Given the description of an element on the screen output the (x, y) to click on. 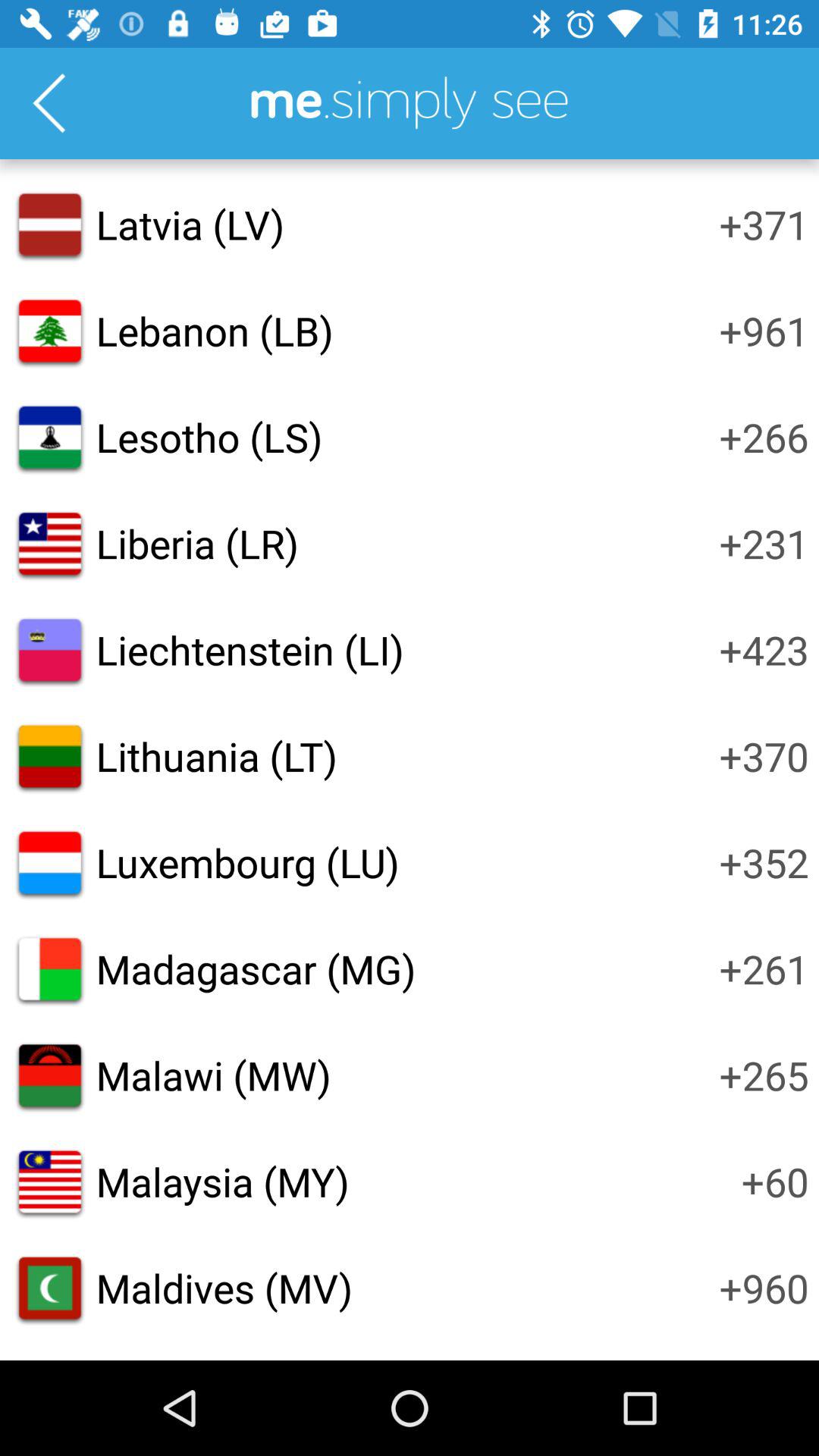
turn on icon next to the malawi (mw) (763, 1074)
